Given the description of an element on the screen output the (x, y) to click on. 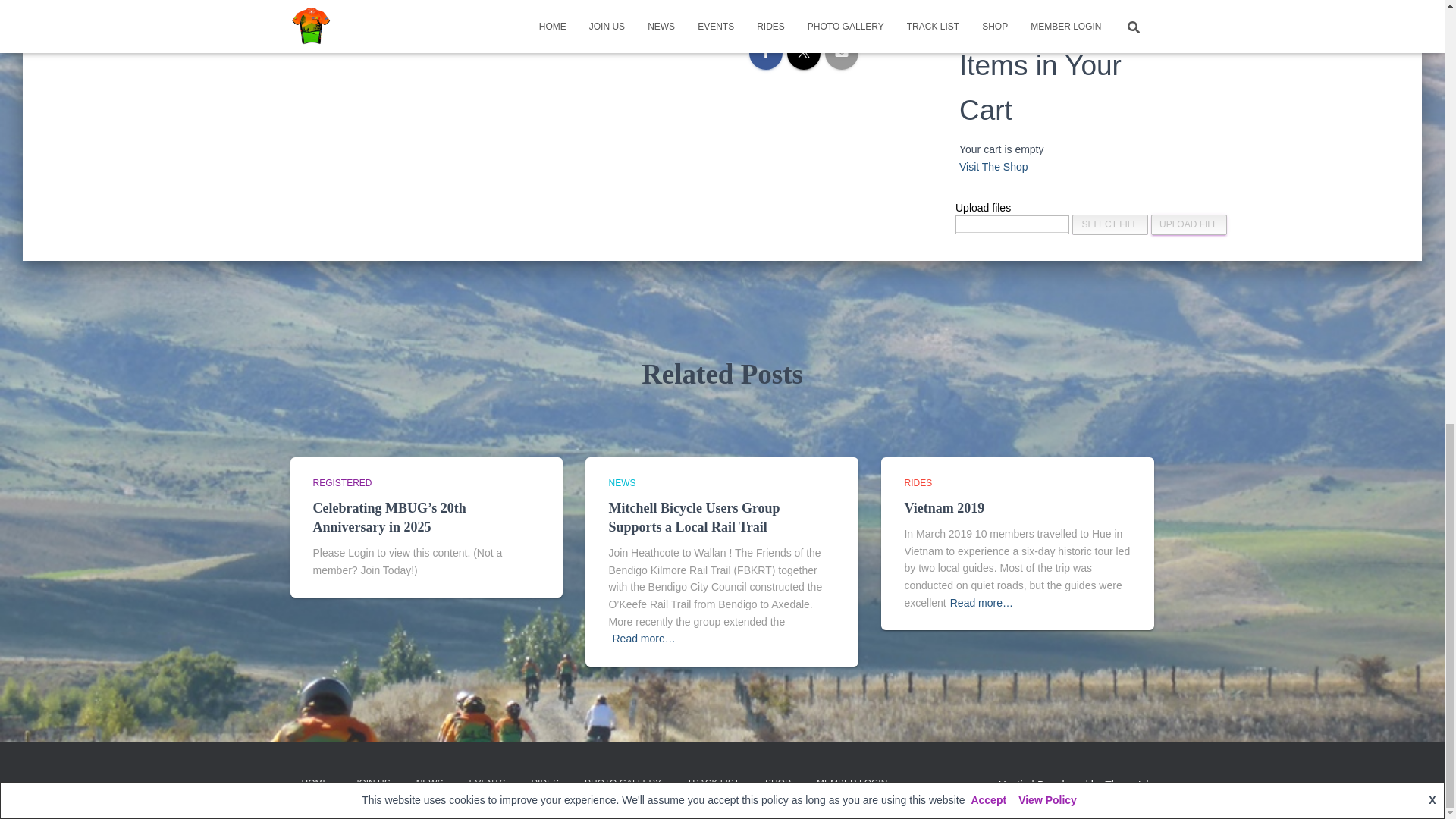
REGISTERED (342, 482)
Mitchell Bicycle Users Group Supports a Local Rail Trail (693, 517)
Select File (1109, 224)
RIDES (917, 482)
NEWS (621, 482)
Upload File (1189, 224)
Visit The Shop (993, 166)
Shopping Cart (979, 11)
